Given the description of an element on the screen output the (x, y) to click on. 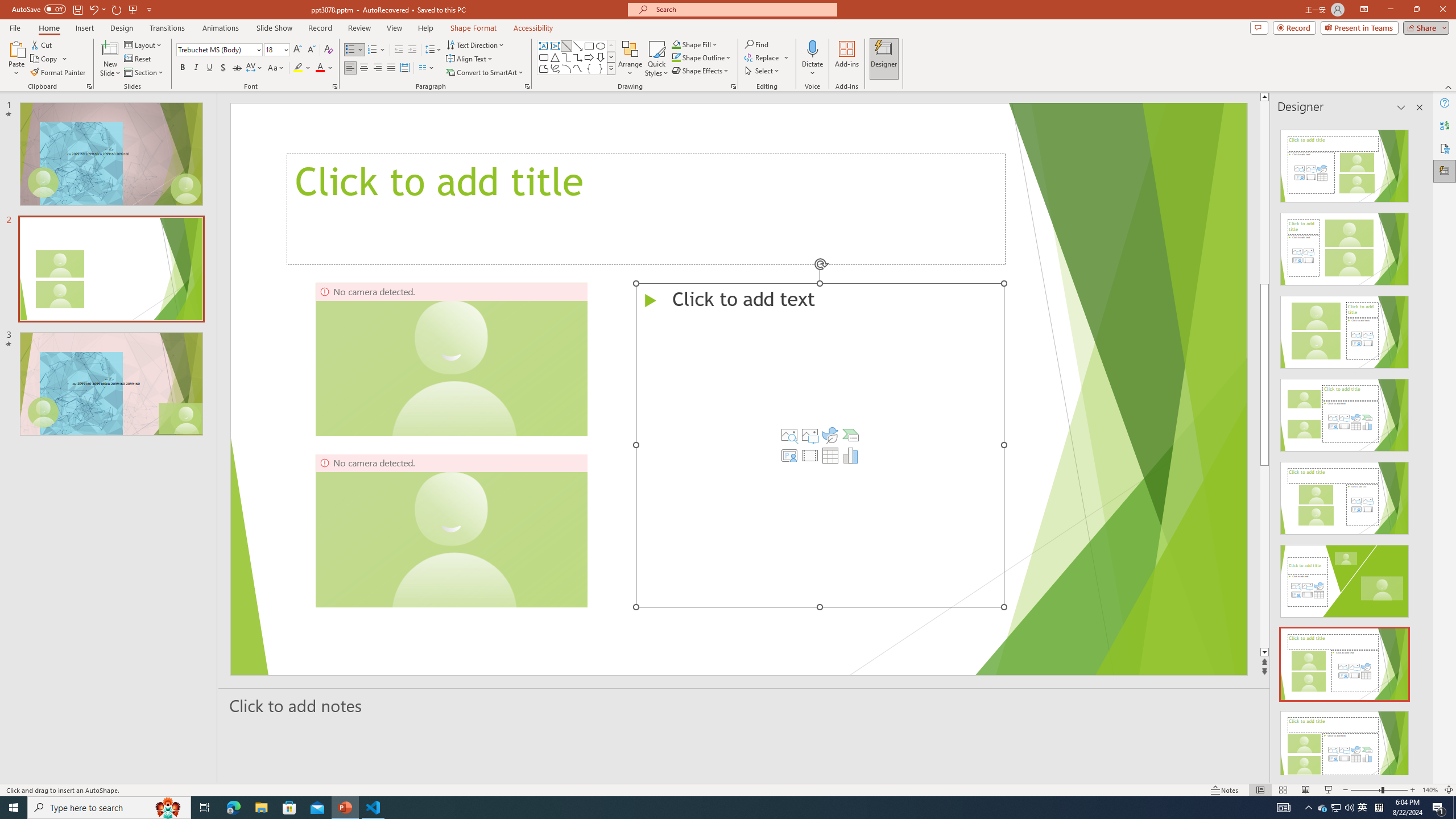
Font Color Red (320, 67)
Design Idea (1344, 743)
Font... (334, 85)
Stock Images (788, 434)
Text Direction (476, 44)
Shape Format (473, 28)
Right Brace (600, 68)
